Given the description of an element on the screen output the (x, y) to click on. 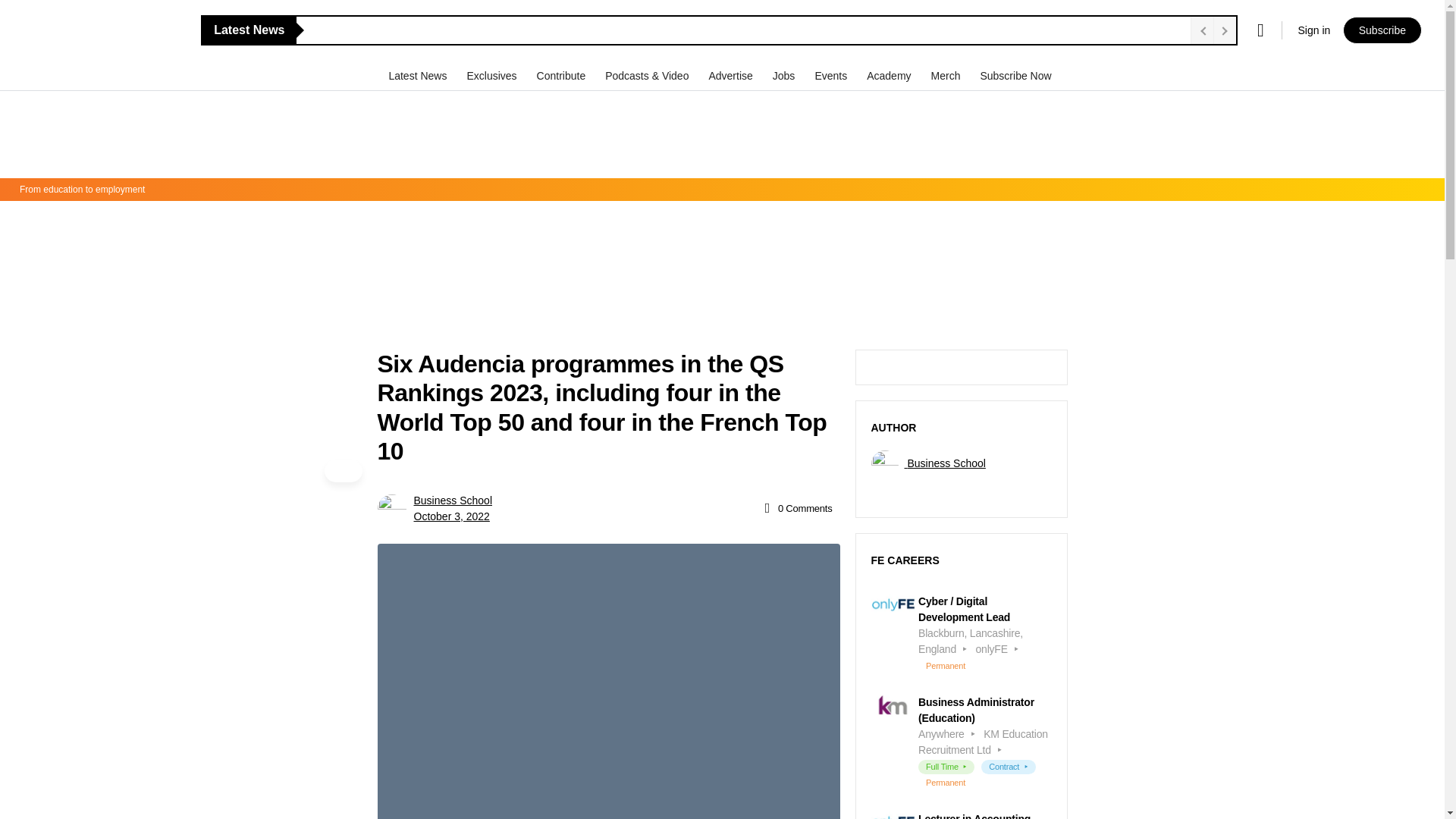
Sign in (1313, 30)
Exclusives (493, 75)
Subscribe (1382, 30)
Latest News (419, 75)
